Given the description of an element on the screen output the (x, y) to click on. 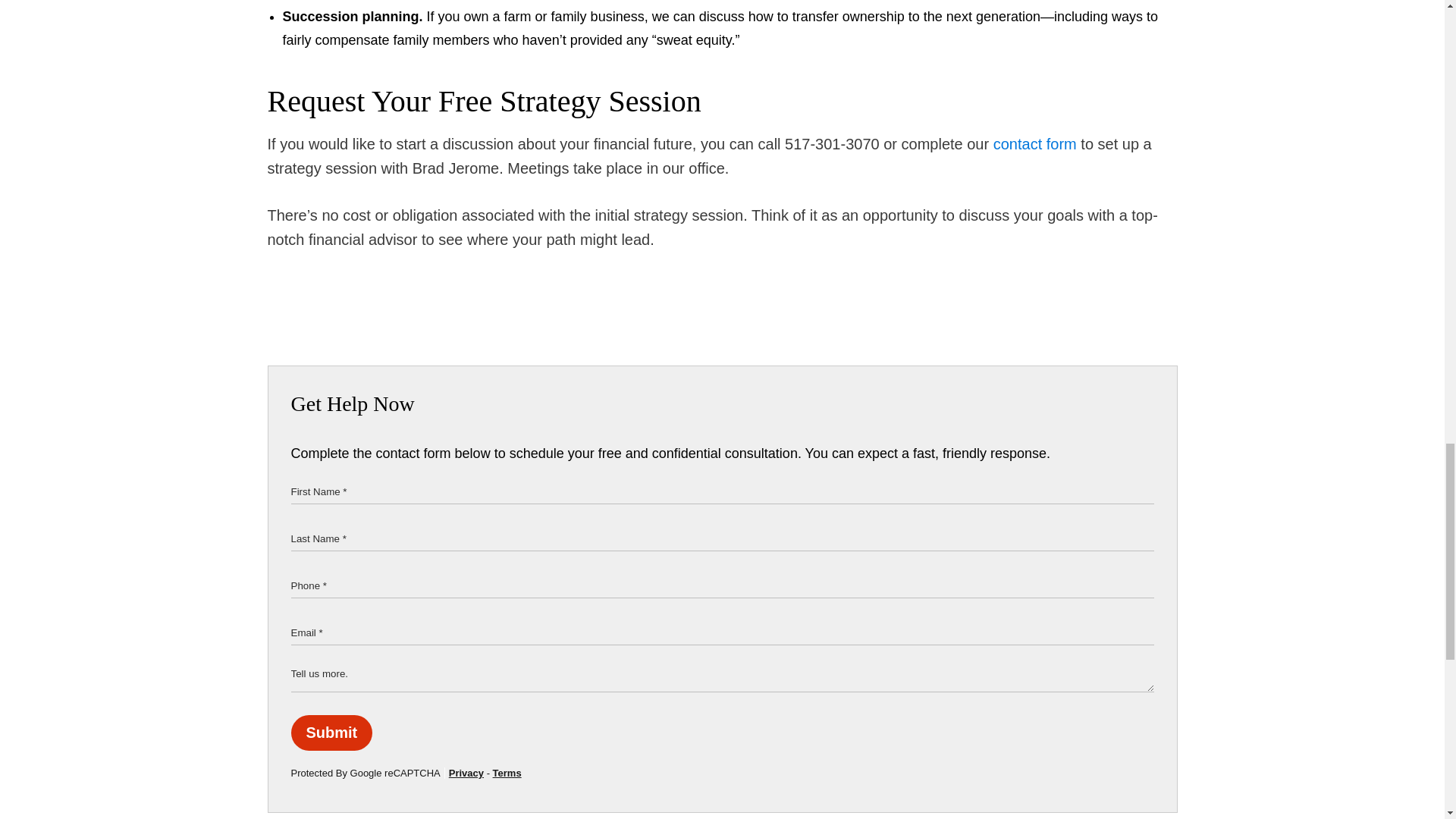
Privacy (465, 772)
Terms (507, 772)
contact form (1034, 143)
Submit (331, 732)
